Given the description of an element on the screen output the (x, y) to click on. 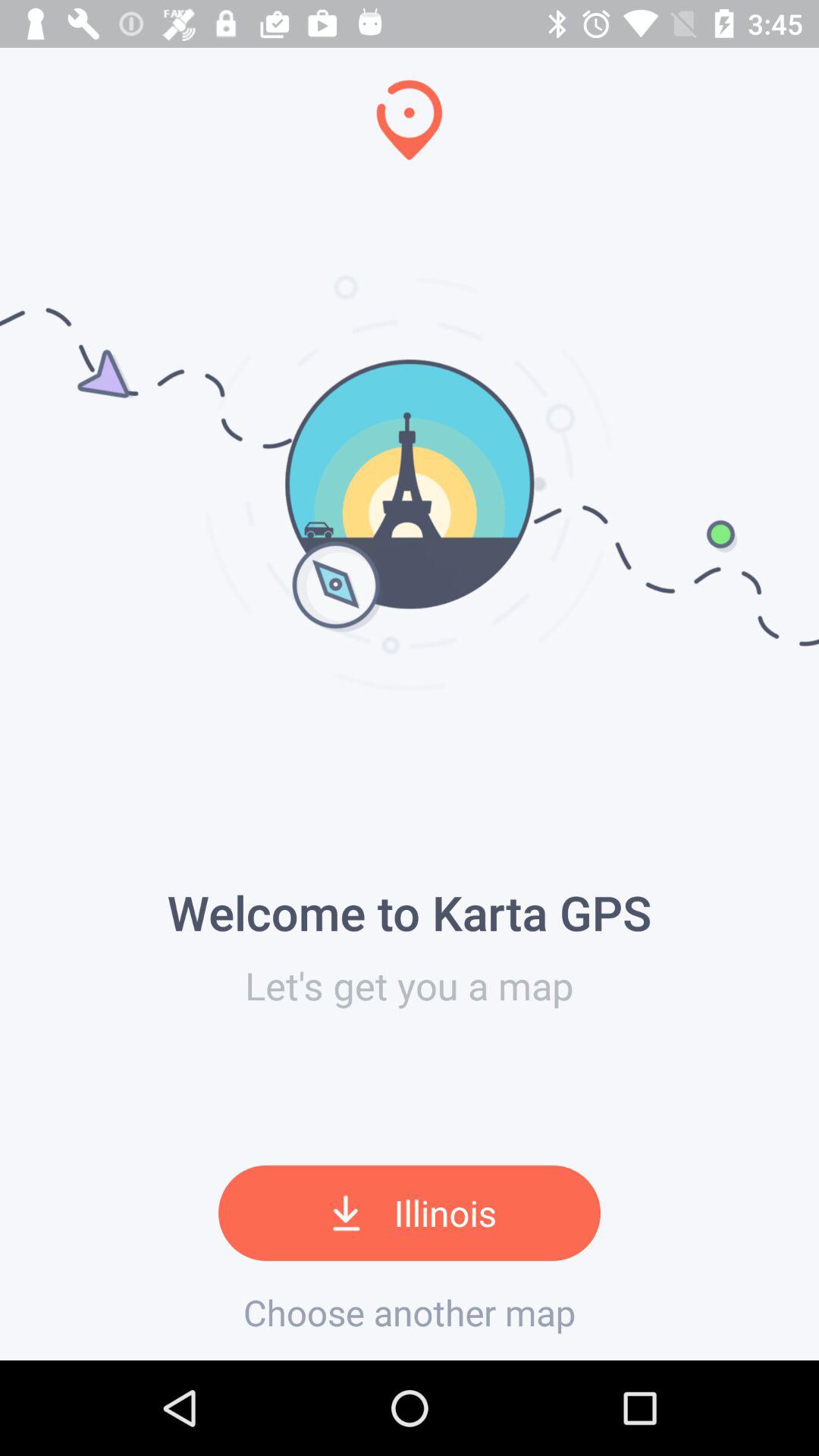
scroll to the choose another map (409, 1312)
